Given the description of an element on the screen output the (x, y) to click on. 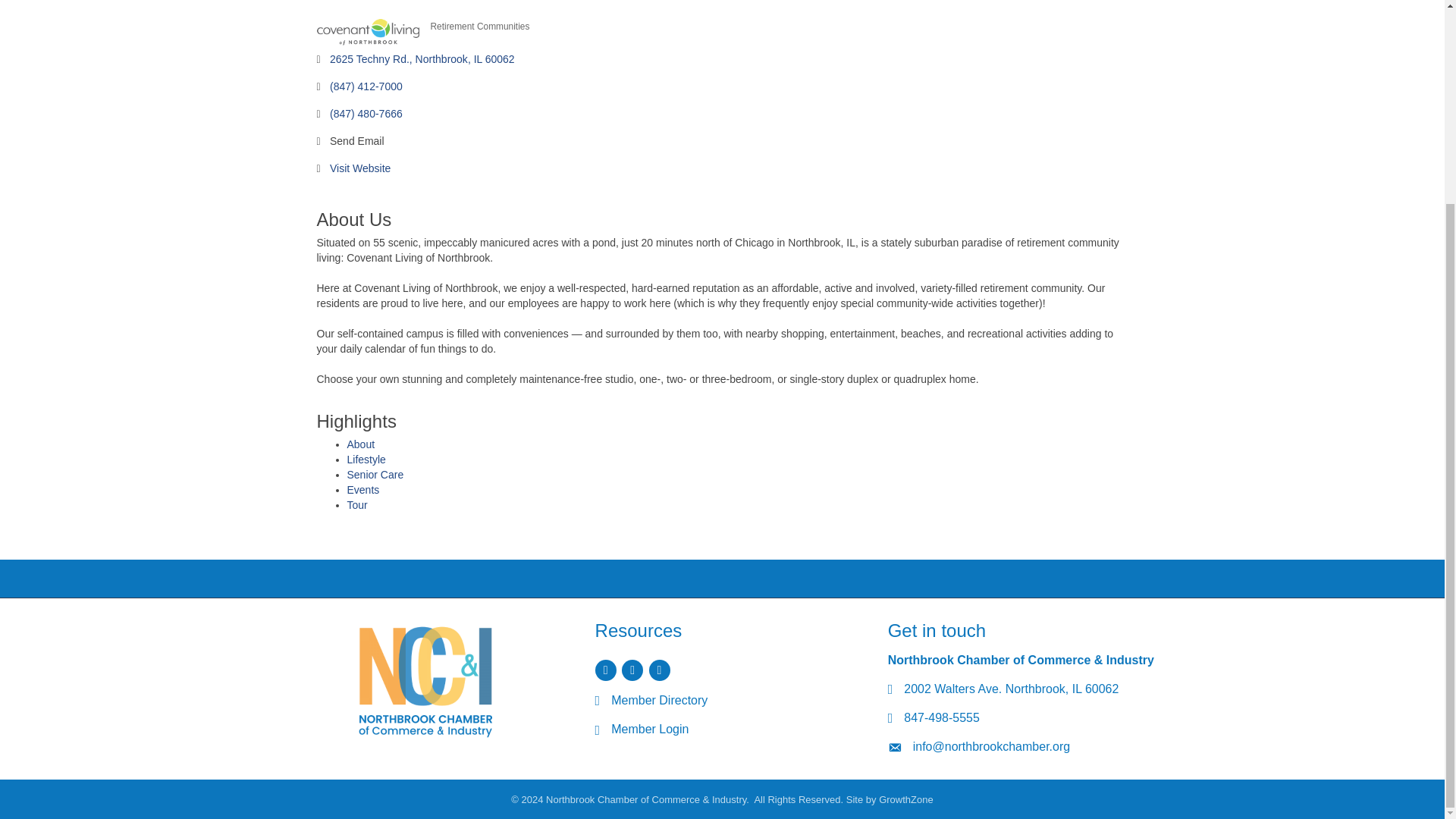
Covenant Living of Northbrook (368, 31)
Events (363, 490)
Northbrook Chamber logo (424, 679)
Senior Care (375, 474)
Visit Website (360, 168)
2625 Techny Rd. Northbrook IL 60062 (422, 59)
About (361, 444)
Lifestyle (366, 459)
Tour (357, 504)
Send Email (357, 141)
